Given the description of an element on the screen output the (x, y) to click on. 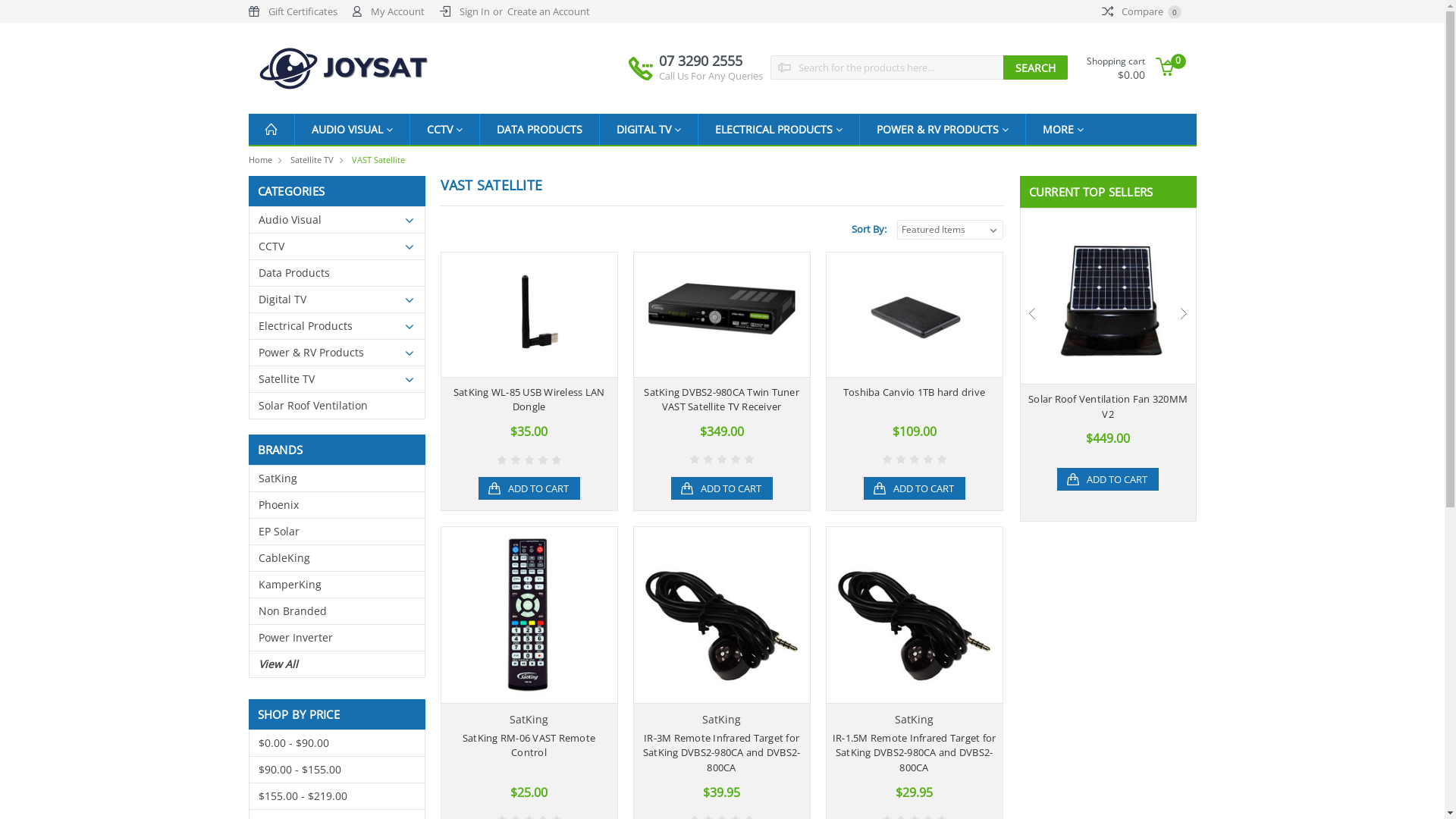
My Account Element type: text (396, 11)
SatKing RM-06 VAST Remote Control Element type: hover (528, 613)
Phoenix Element type: text (335, 504)
CCTV Element type: text (335, 246)
Search Element type: text (1035, 67)
ADD TO CART Element type: text (1107, 478)
Audio Visual Element type: text (335, 219)
DIGITAL TV Element type: text (647, 128)
MORE Element type: text (1062, 128)
SatKing DVBS2-980CA Twin Tuner VAST Satellite TV Receiver Element type: text (721, 399)
Solar Roof Ventilation Fan 320MM V2 Element type: text (1107, 406)
Non Branded Element type: text (335, 610)
Data Products Element type: text (335, 272)
VAST Satellite Element type: text (377, 159)
$155.00 - $219.00 Element type: text (335, 795)
SatKing WL-85 USB Wireless LAN Dongle Element type: hover (528, 313)
Power Inverter Element type: text (335, 637)
Compare 0 Element type: text (1140, 11)
Digital TV Element type: text (335, 299)
Satellite TV Element type: text (335, 378)
KamperKing Element type: text (335, 584)
Shopping cart
$0.00
0 Element type: text (1137, 67)
DATA PRODUCTS Element type: text (538, 128)
CableKing Element type: text (335, 557)
ADD TO CART Element type: text (913, 487)
07 3290 2555
Call Us For Any Queries Element type: text (710, 67)
View All Element type: text (335, 663)
Solar Roof Ventilation Fan 320MM V2 Element type: hover (1108, 296)
Electrical Products Element type: text (335, 325)
ADD TO CART Element type: text (528, 487)
EP Solar Element type: text (335, 531)
Create an Account Element type: text (548, 11)
Home Element type: text (260, 159)
SatKing Element type: text (335, 478)
Solar Roof Ventilation Element type: text (335, 405)
POWER & RV PRODUCTS Element type: text (942, 128)
ADD TO CART Element type: text (720, 487)
Previous Element type: text (1031, 312)
ELECTRICAL PRODUCTS Element type: text (777, 128)
AUDIO VISUAL Element type: text (351, 128)
SatKing DVBS2-980CA Twin Tuner VAST Satellite TV Receiver Element type: hover (721, 313)
SatKing WL-85 USB Wireless LAN Dongle Element type: text (529, 399)
CCTV Element type: text (443, 128)
$0.00 - $90.00 Element type: text (335, 742)
Sign In Element type: text (474, 11)
Joysat Element type: hover (343, 68)
Next Element type: text (1183, 312)
Power & RV Products Element type: text (335, 352)
Satellite TV Element type: text (310, 159)
Gift Certificates Element type: text (302, 11)
Toshiba Canvio 1TB hard drive Element type: text (914, 391)
Toshiba Canvio 1TB hard drive Element type: hover (914, 314)
SatKing RM-06 VAST Remote Control Element type: text (528, 745)
$90.00 - $155.00 Element type: text (335, 769)
